Given the description of an element on the screen output the (x, y) to click on. 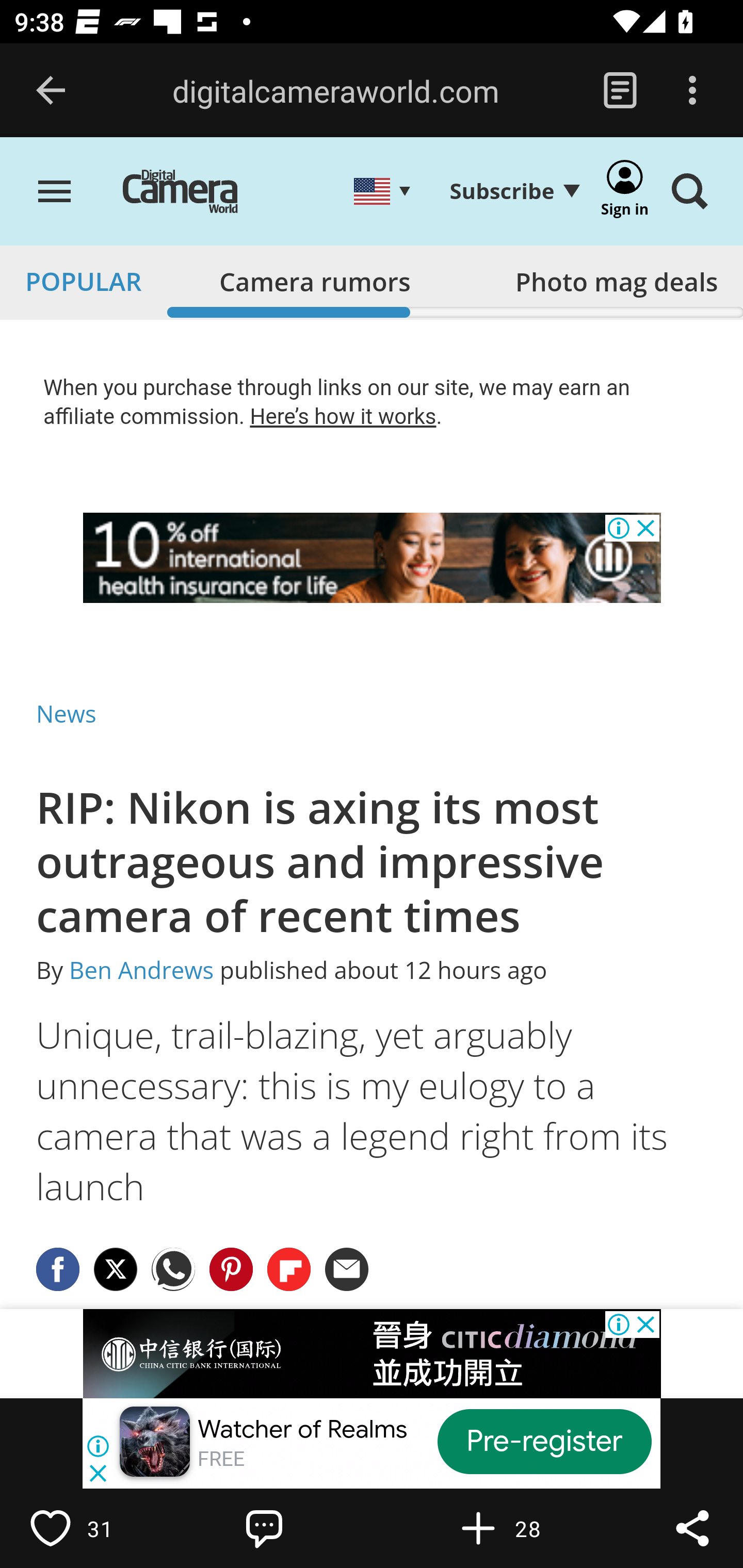
Back (50, 90)
Reader View (619, 90)
Options (692, 90)
Open menu (54, 192)
Digital Camera World (194, 192)
Sign in (625, 192)
Search (689, 192)
Subscribe (514, 190)
Camera rumors (314, 277)
Photo mag deals (615, 277)
Here’s how it works (342, 415)
Return to News News (66, 712)
Ben Andrews (141, 970)
Share this page on Facebook (58, 1268)
 Share this page on Twitter (115, 1268)
Share this page on WhatsApp (173, 1268)
Share this page on Pinterest (230, 1268)
Share this page on Flipboard (289, 1268)
Share this page on your Email  (347, 1268)
Pre-register (544, 1441)
Watcher of Realms (302, 1428)
FREE (221, 1458)
Like 31 (93, 1528)
Write a comment… (307, 1528)
Flip into Magazine 28 (521, 1528)
Share (692, 1528)
